Given the description of an element on the screen output the (x, y) to click on. 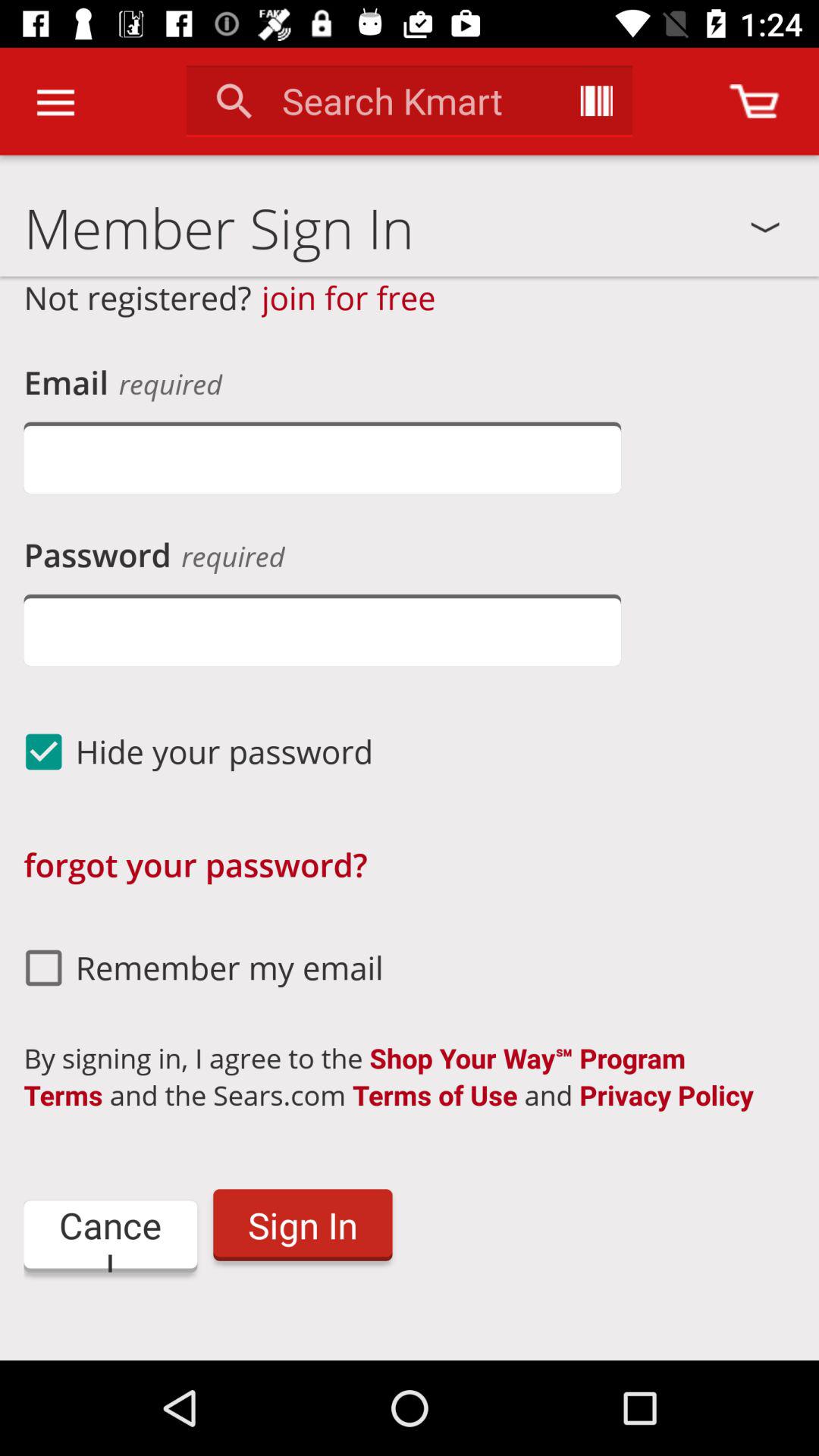
flip to remember my email icon (197, 967)
